Given the description of an element on the screen output the (x, y) to click on. 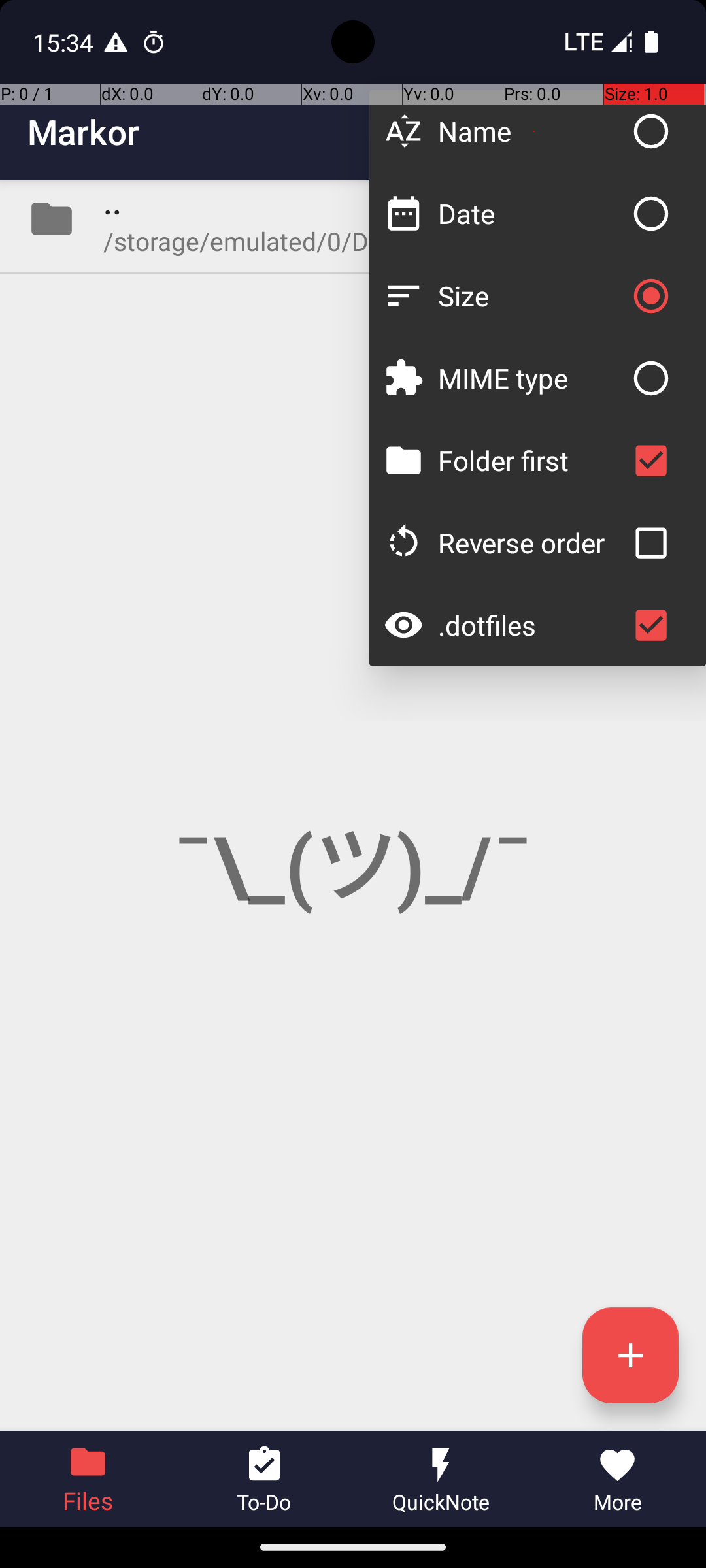
Size Element type: android.widget.TextView (530, 295)
MIME type Element type: android.widget.TextView (530, 377)
Folder first Element type: android.widget.TextView (530, 459)
Reverse order Element type: android.widget.TextView (530, 542)
.dotfiles Element type: android.widget.TextView (530, 624)
